Given the description of an element on the screen output the (x, y) to click on. 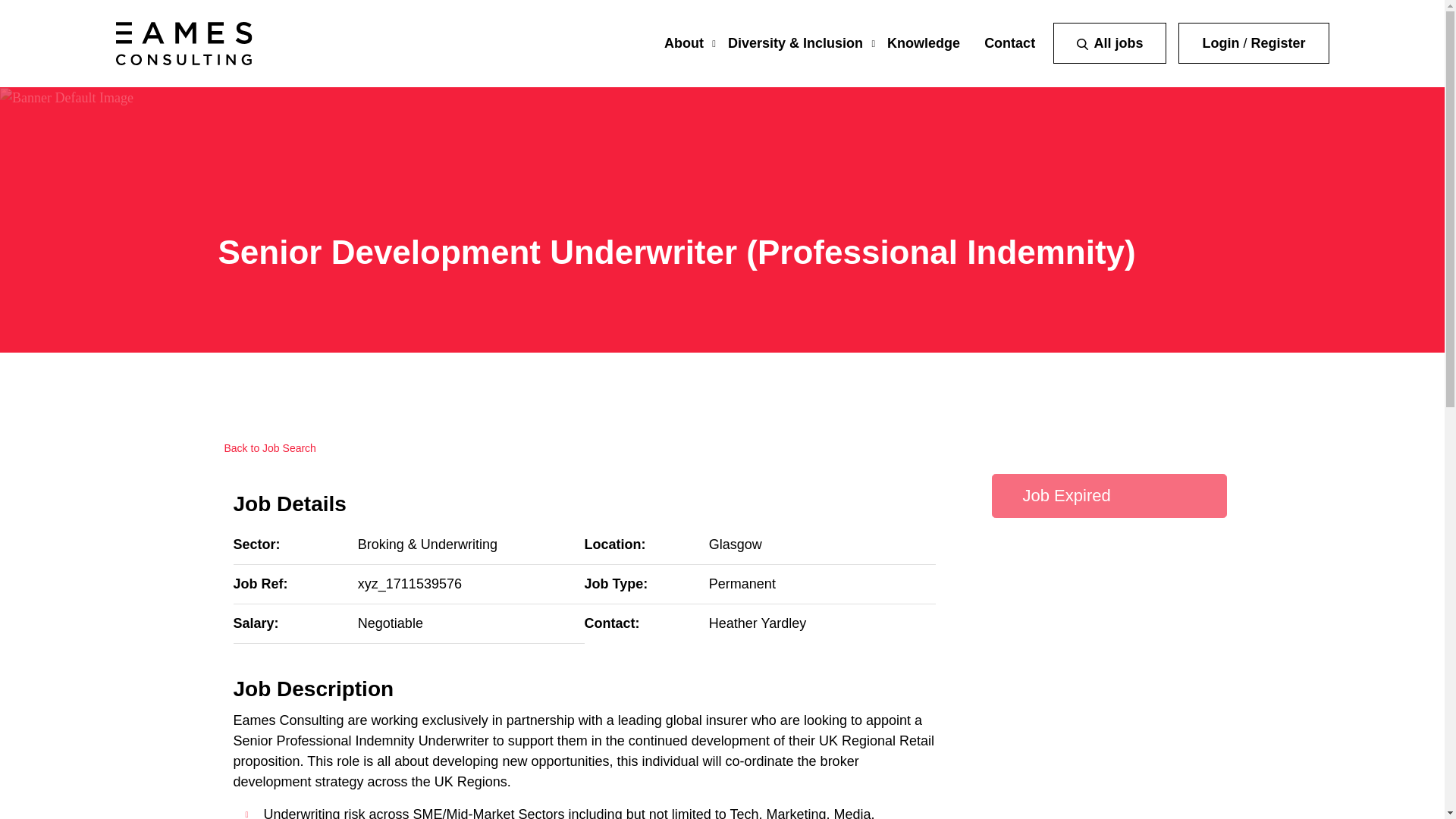
Knowledge (922, 43)
About (683, 43)
Register (1277, 43)
Contact (1009, 43)
Back to Job Search (266, 448)
Permanent (742, 583)
search All jobs (1109, 42)
Job Expired (1109, 495)
Login (1220, 43)
search (1082, 43)
